Given the description of an element on the screen output the (x, y) to click on. 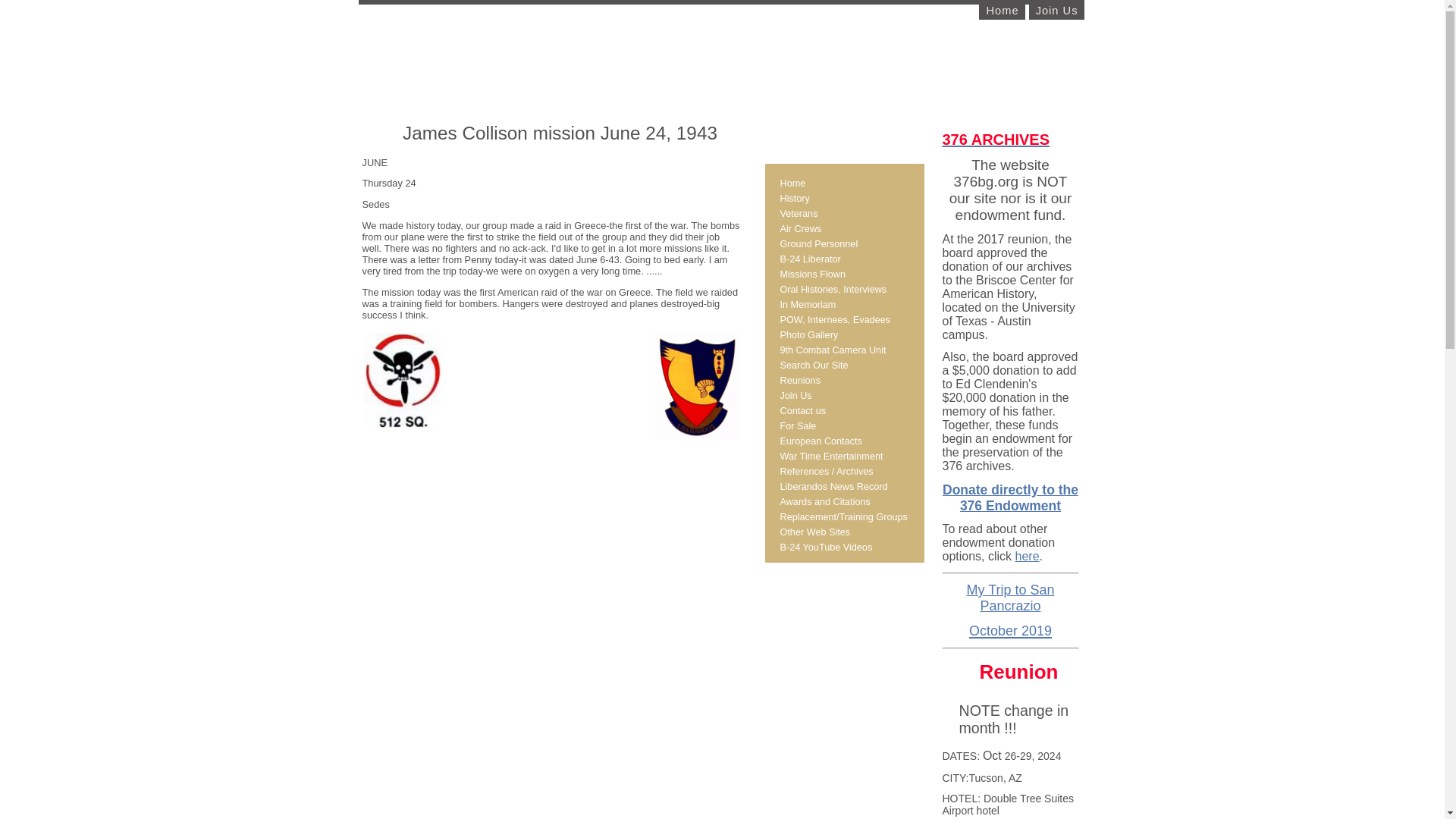
For Sale (843, 426)
History (843, 198)
Join Us (1056, 11)
POW, Internees, Evadees (843, 319)
War Time Entertainment (843, 456)
European Contacts (843, 441)
Air Crews (843, 228)
My Trip to San Pancrazio (1010, 597)
In Memoriam (843, 304)
B-24 Liberator (843, 258)
